Given the description of an element on the screen output the (x, y) to click on. 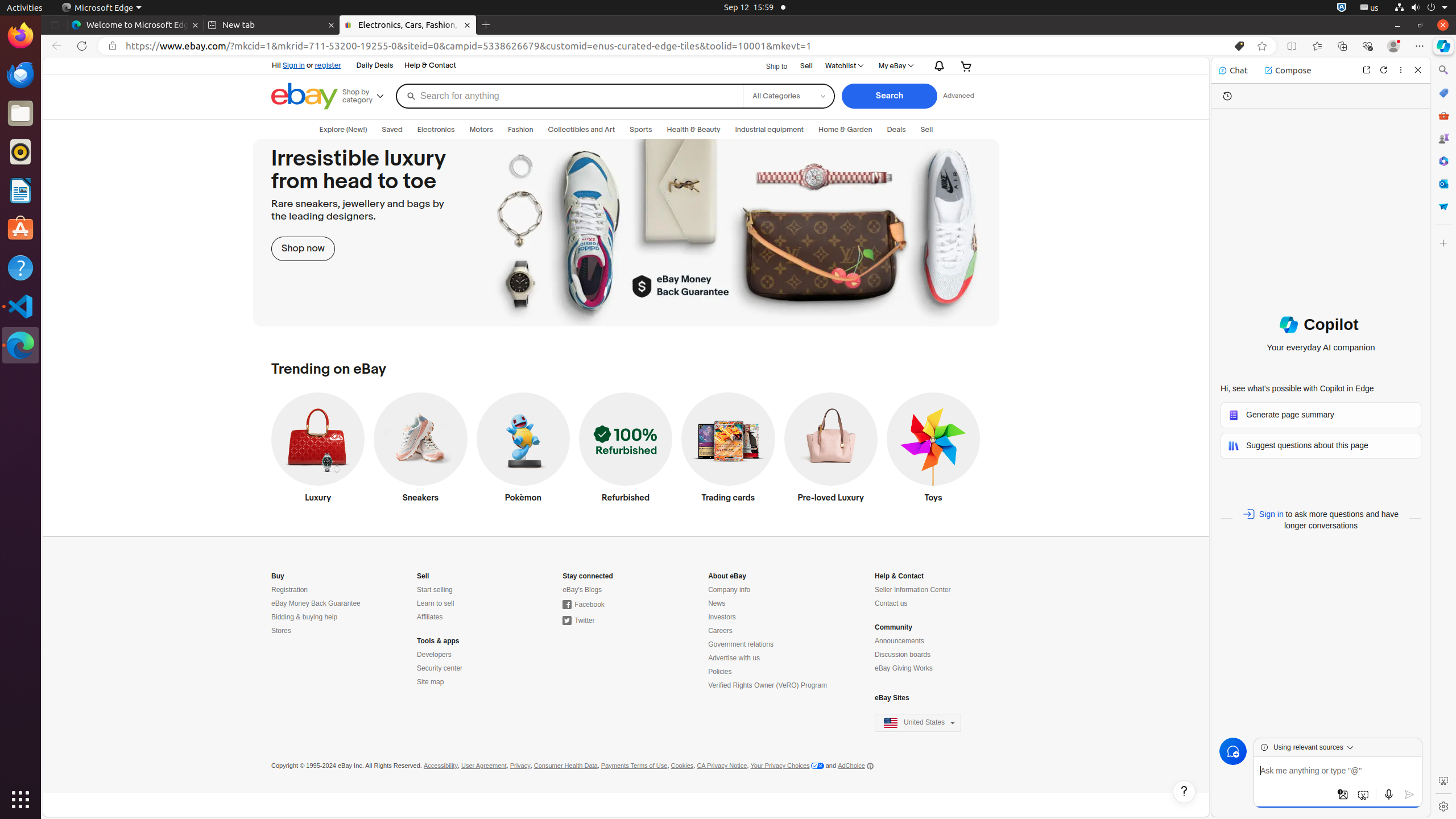
Careers Element type: link (720, 630)
Sneakers Element type: link (420, 450)
Your shopping cart Element type: link (966, 65)
Customize Element type: push-button (1443, 243)
News Element type: link (716, 603)
